Given the description of an element on the screen output the (x, y) to click on. 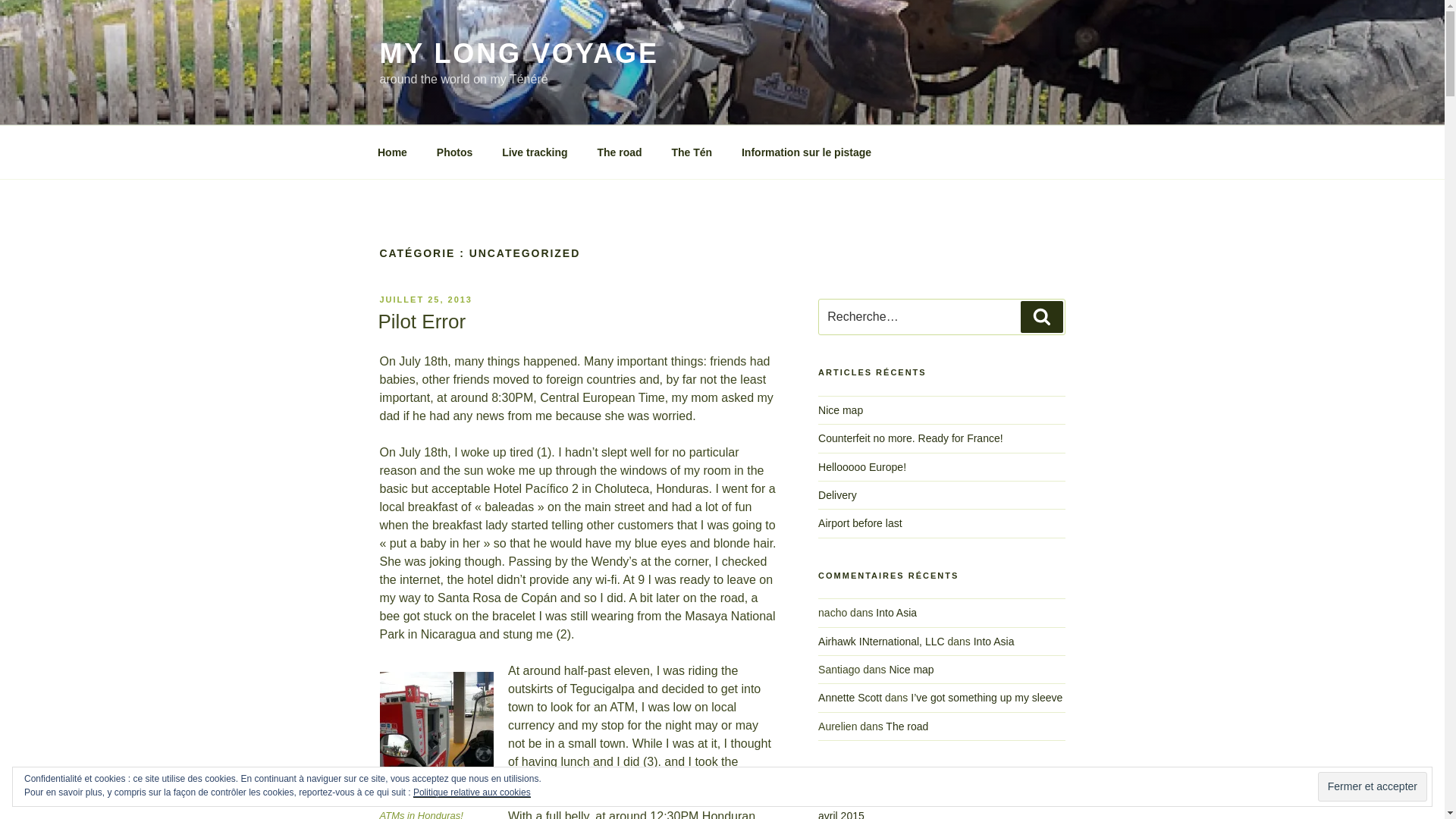
Home (392, 151)
Pilot Error (421, 321)
JUILLET 25, 2013 (424, 298)
Information sur le pistage (805, 151)
MY LONG VOYAGE (518, 52)
Fermer et accepter (1371, 786)
Live tracking (534, 151)
Photos (453, 151)
The road (619, 151)
